Given the description of an element on the screen output the (x, y) to click on. 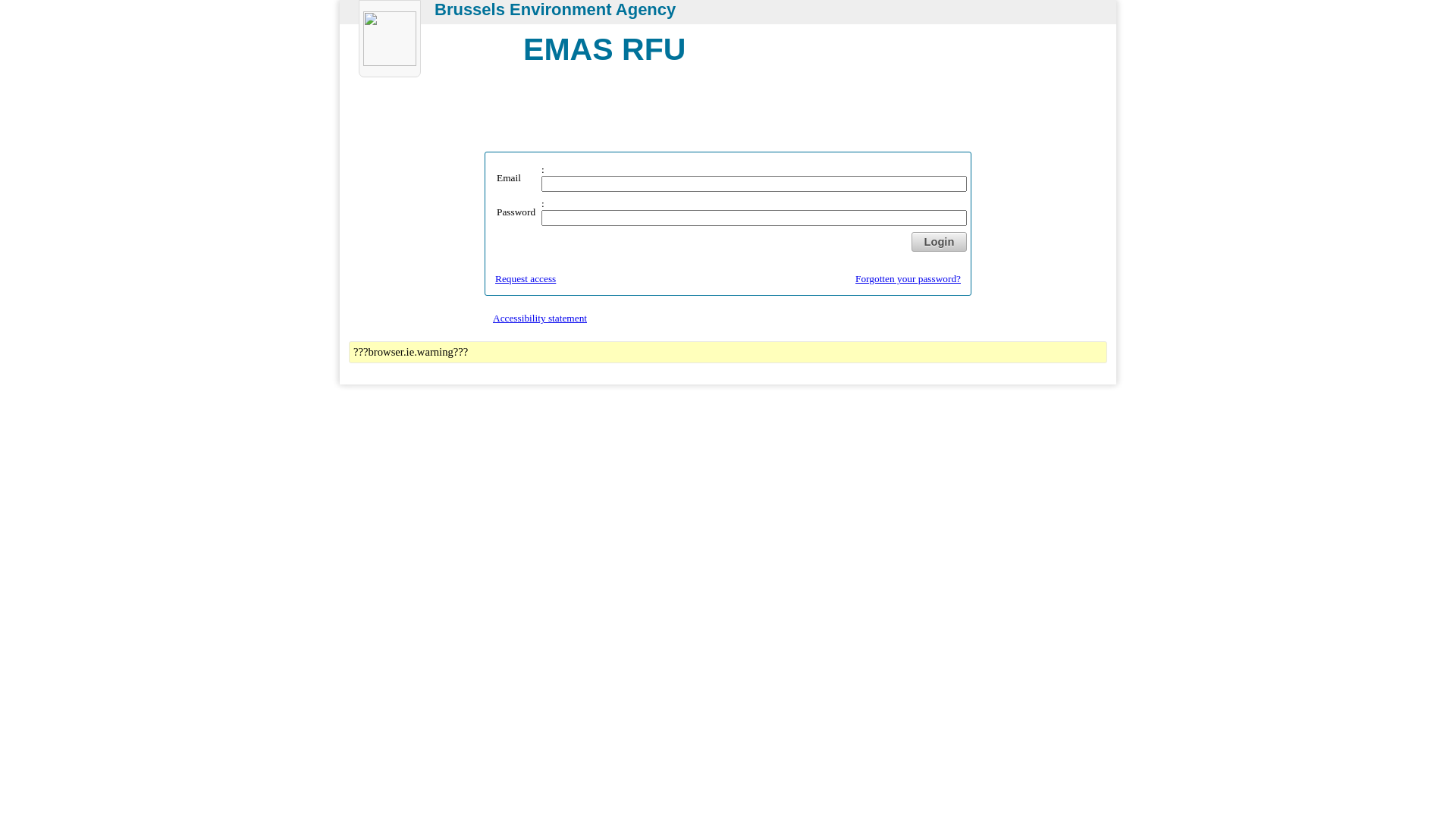
Login Element type: text (938, 241)
Forgotten your password? Element type: text (907, 278)
Request access Element type: text (525, 278)
Accessibility statement Element type: text (539, 317)
